Given the description of an element on the screen output the (x, y) to click on. 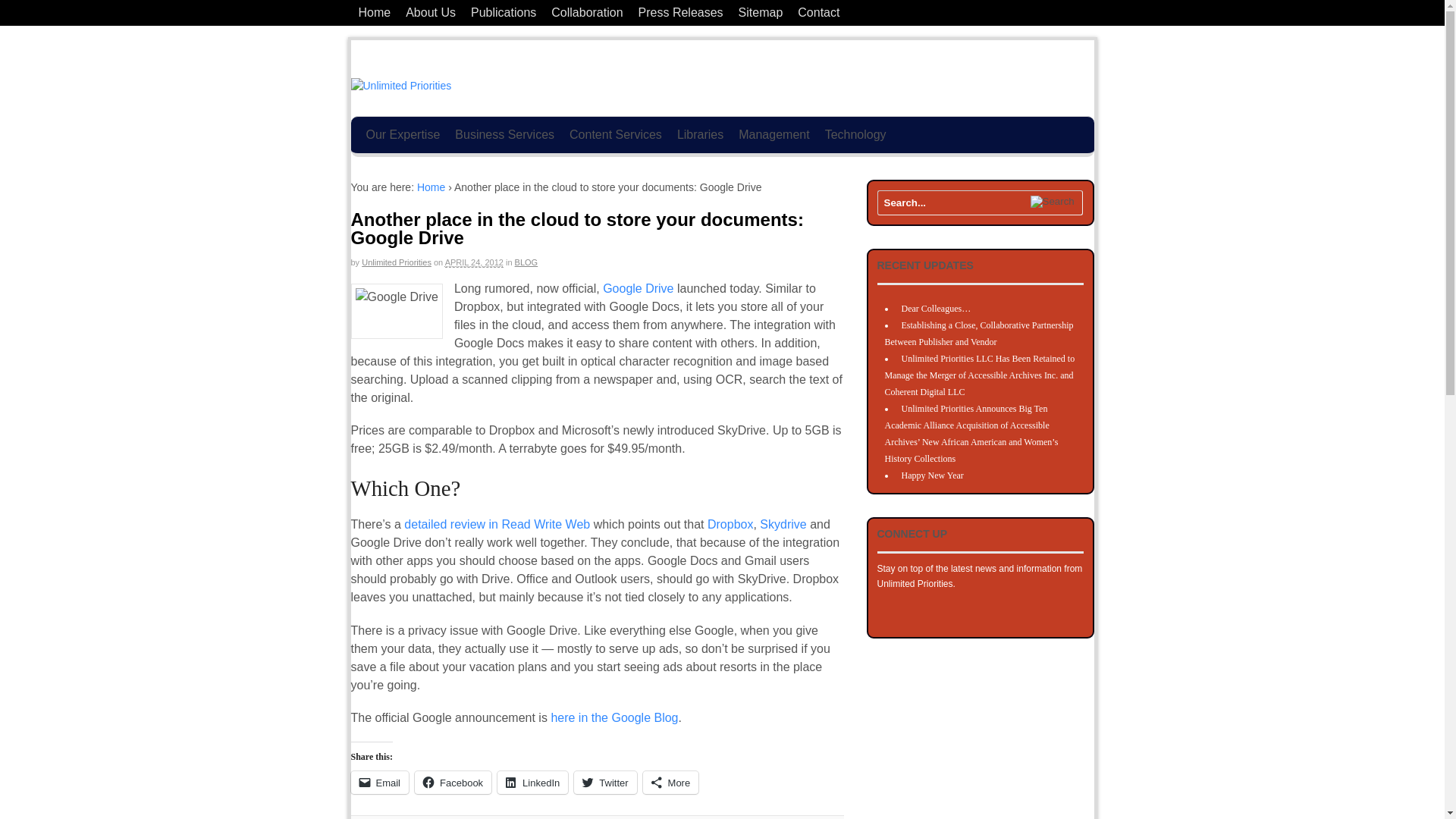
Google Drive (396, 311)
Contact (818, 12)
Click to share on Twitter (604, 782)
Content Services (615, 134)
Publications (503, 12)
Click to share on Facebook (453, 782)
2012-04-24T17:39:35-0400 (474, 262)
Unlimited Priorities (430, 186)
Business Services (504, 134)
About Us (430, 12)
Posts by Unlimited Priorities (395, 261)
Press Releases (680, 12)
Management (773, 134)
Our Expertise (402, 134)
Home (373, 12)
